Given the description of an element on the screen output the (x, y) to click on. 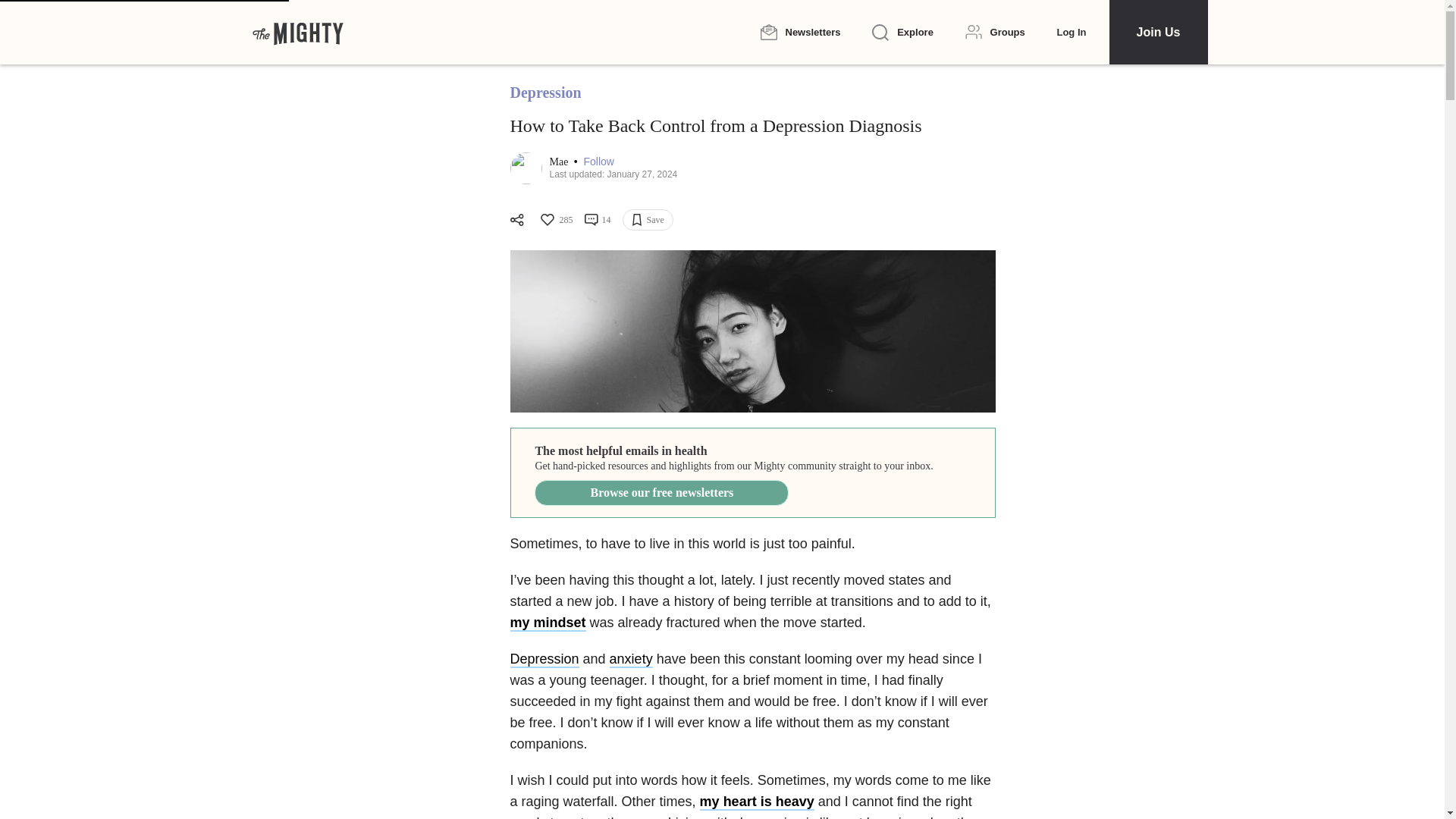
Mae (559, 161)
285 (555, 219)
my heart is heavy (756, 801)
Join Us (1157, 32)
Depression (543, 659)
anxiety (631, 659)
Follow (597, 161)
my mindset (547, 623)
The Mighty (296, 32)
Newsletters (800, 31)
